Given the description of an element on the screen output the (x, y) to click on. 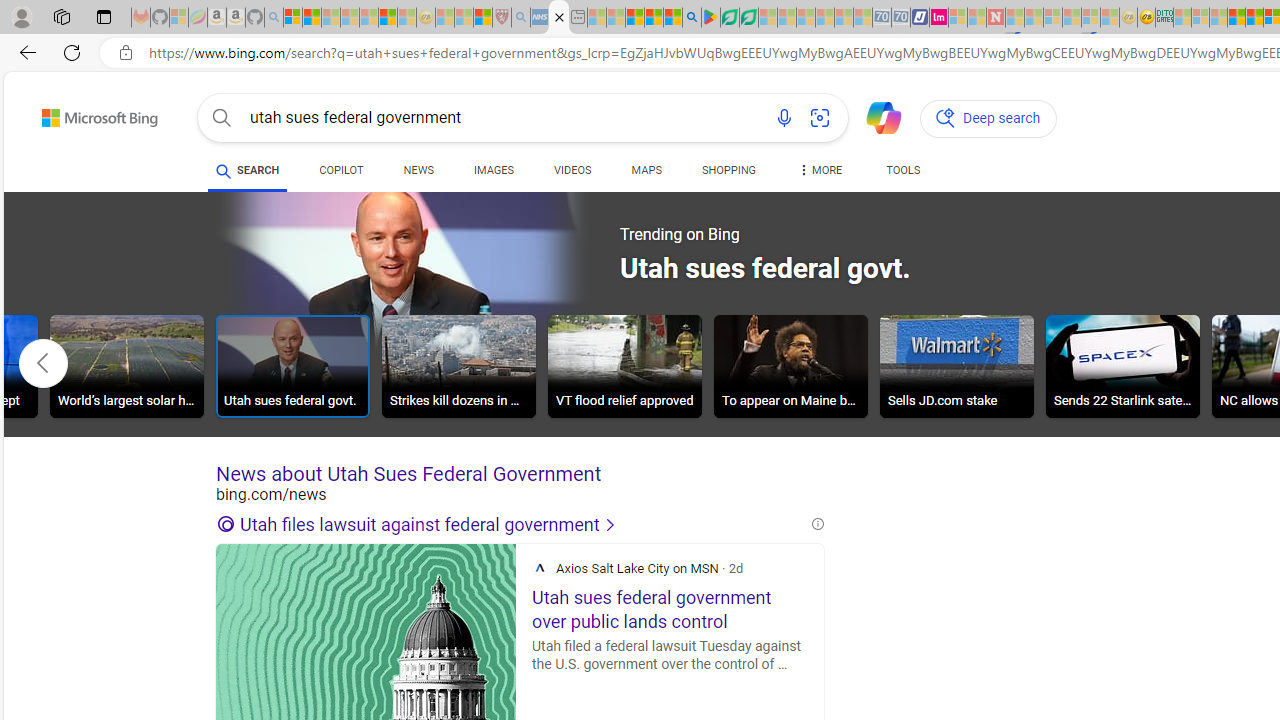
Sells JD.com stake (957, 369)
Utah sues federal govt. (292, 369)
Utah files lawsuit against federal government (511, 524)
Kinda Frugal - MSN (1254, 17)
